Given the description of an element on the screen output the (x, y) to click on. 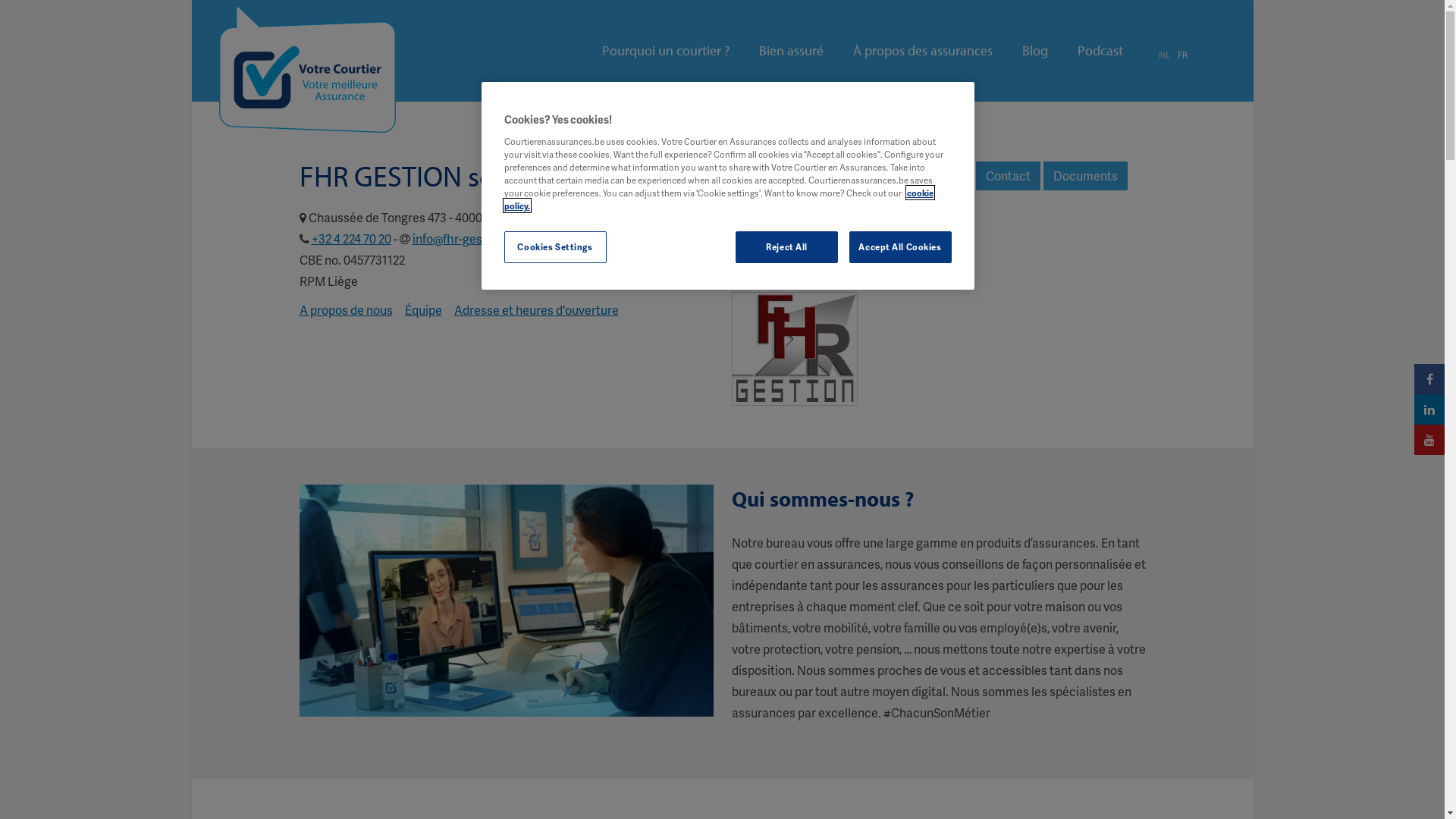
A propos de nous Element type: text (345, 309)
Blog Element type: text (1034, 50)
NL Element type: text (1164, 54)
cookie policy. Element type: text (717, 198)
+32 4 224 70 20 Element type: text (350, 238)
Accept All Cookies Element type: text (900, 247)
Contact Element type: text (1007, 175)
Reject All Element type: text (786, 247)
info@fhr-gestion.be Element type: text (466, 238)
Documents Element type: text (1085, 175)
Podcast Element type: text (1099, 50)
Adresse et heures d'ouverture Element type: text (535, 309)
Cookies Settings Element type: text (554, 247)
Pourquoi un courtier ? Element type: text (665, 50)
FR Element type: text (1181, 54)
